Given the description of an element on the screen output the (x, y) to click on. 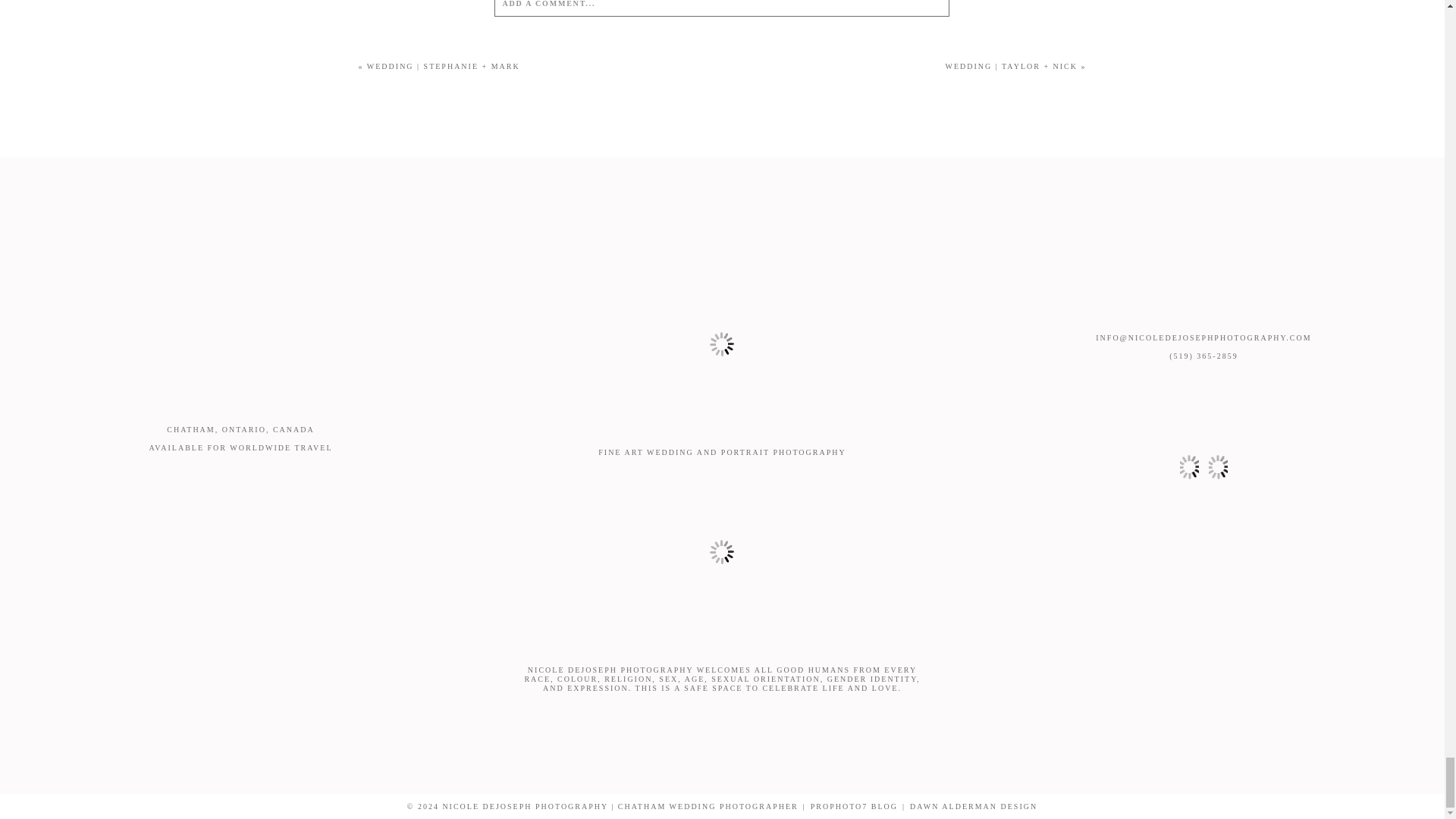
PROPHOTO7 BLOG (854, 806)
ProPhoto theme (854, 806)
DAWN ALDERMAN DESIGN (973, 806)
